Given the description of an element on the screen output the (x, y) to click on. 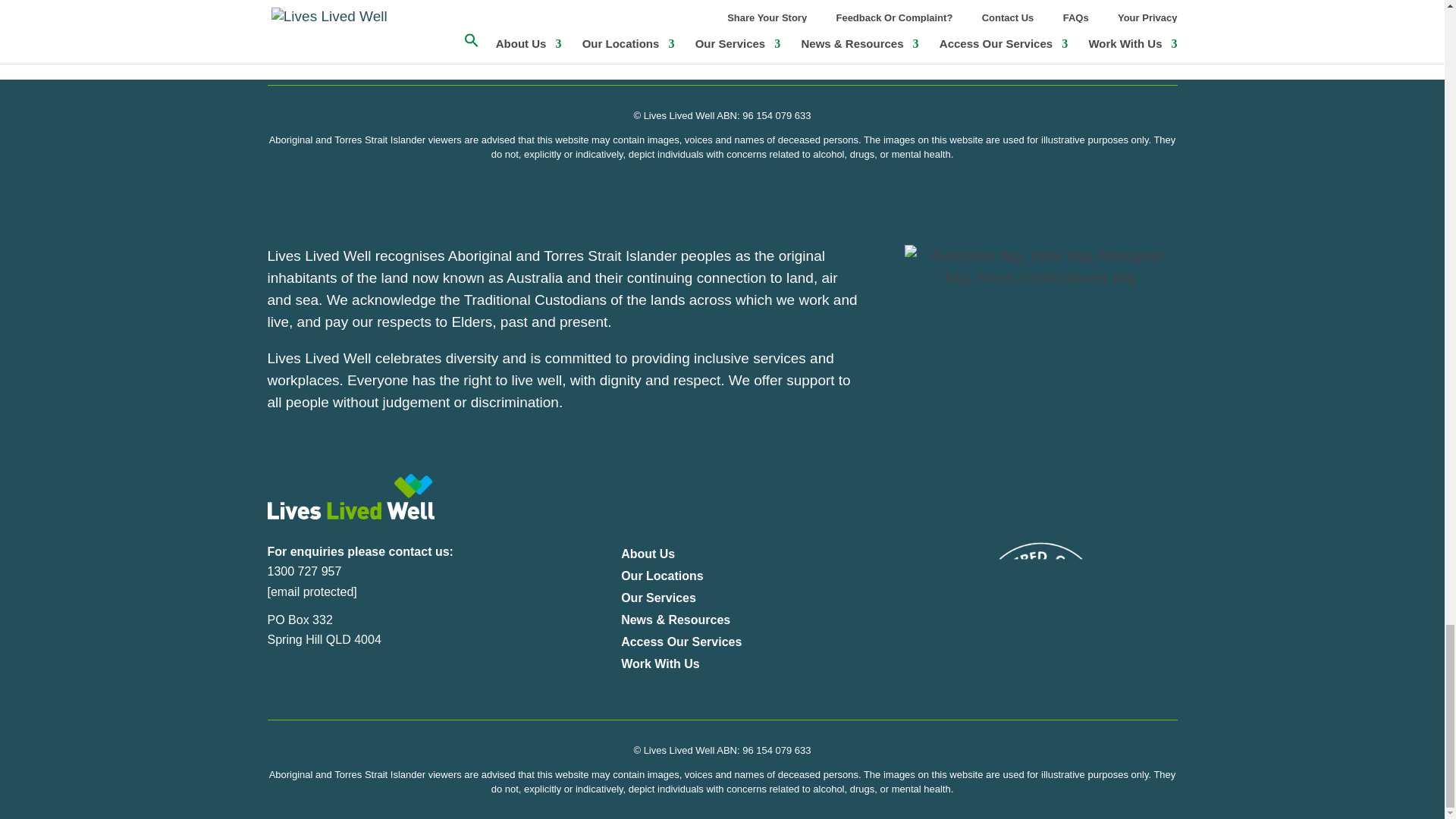
LinkedIn (342, 684)
Facebook (278, 684)
Instagram (310, 684)
